Given the description of an element on the screen output the (x, y) to click on. 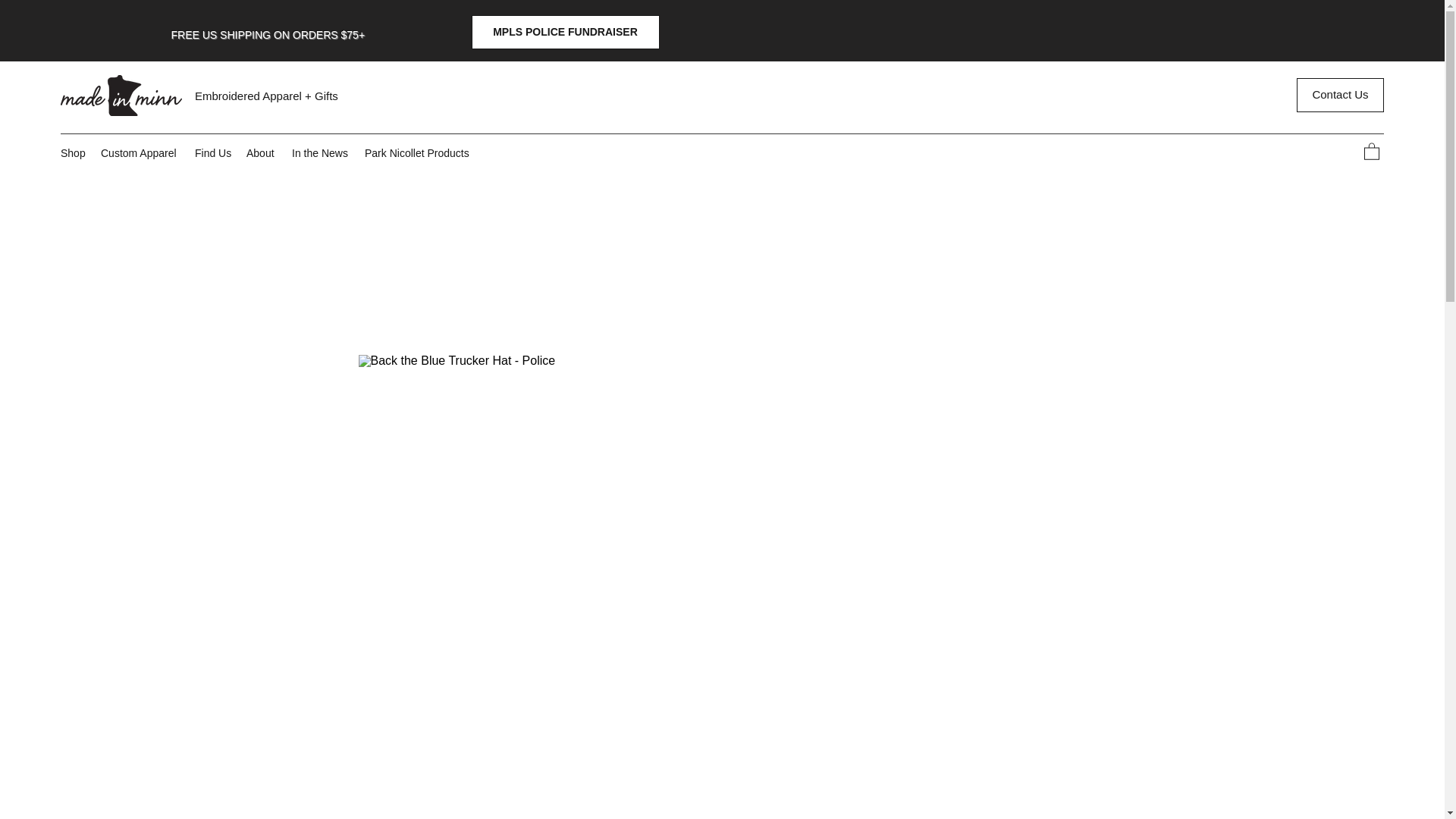
MPLS POLICE FUNDRAISER (565, 32)
Park Nicollet Products (416, 152)
About (260, 152)
In the News (319, 152)
Shop (72, 152)
Contact Us (1340, 94)
Find Us (212, 152)
Custom Apparel (140, 152)
